Given the description of an element on the screen output the (x, y) to click on. 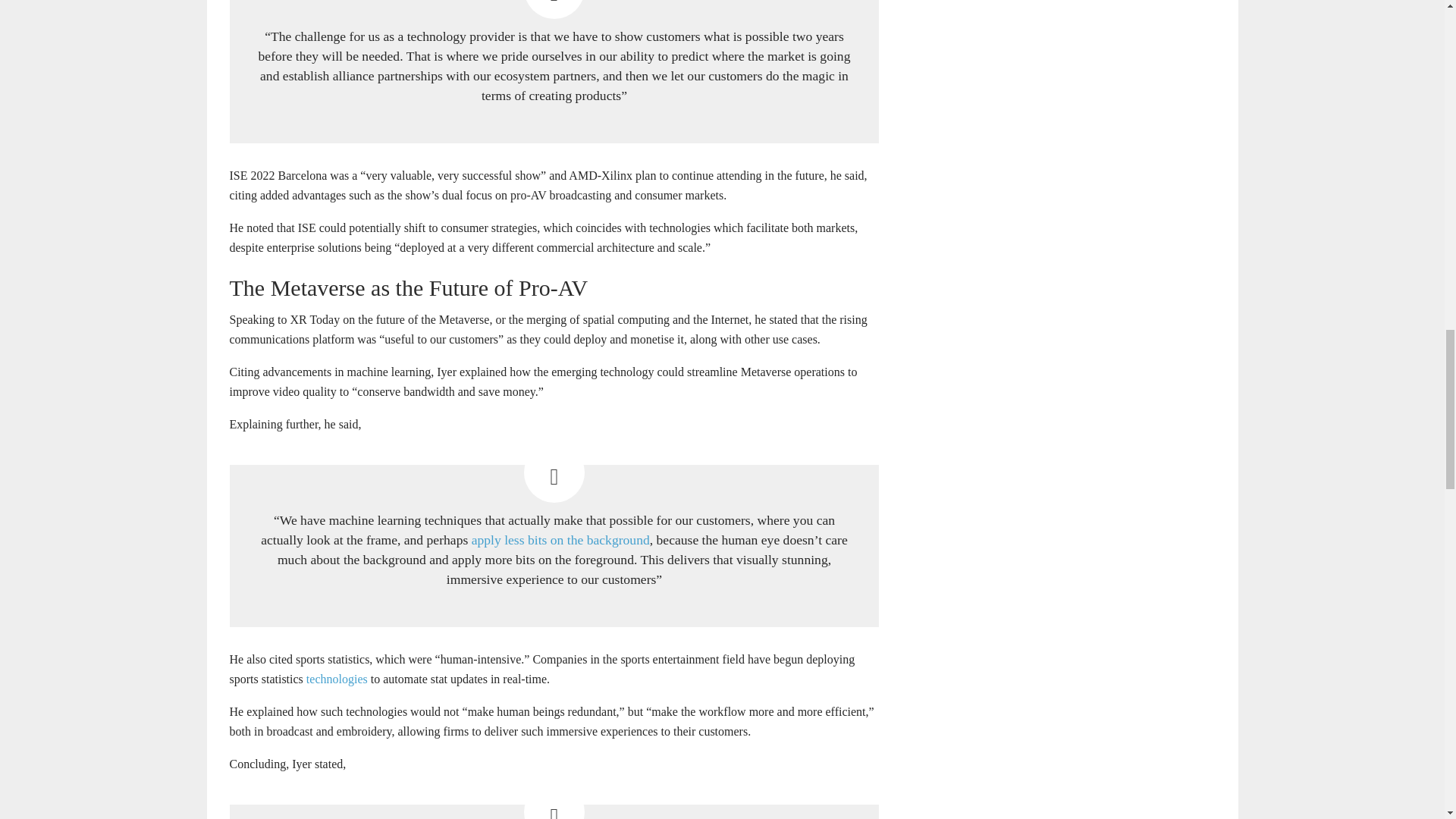
apply less bits on the background (560, 539)
technologies (336, 678)
